Given the description of an element on the screen output the (x, y) to click on. 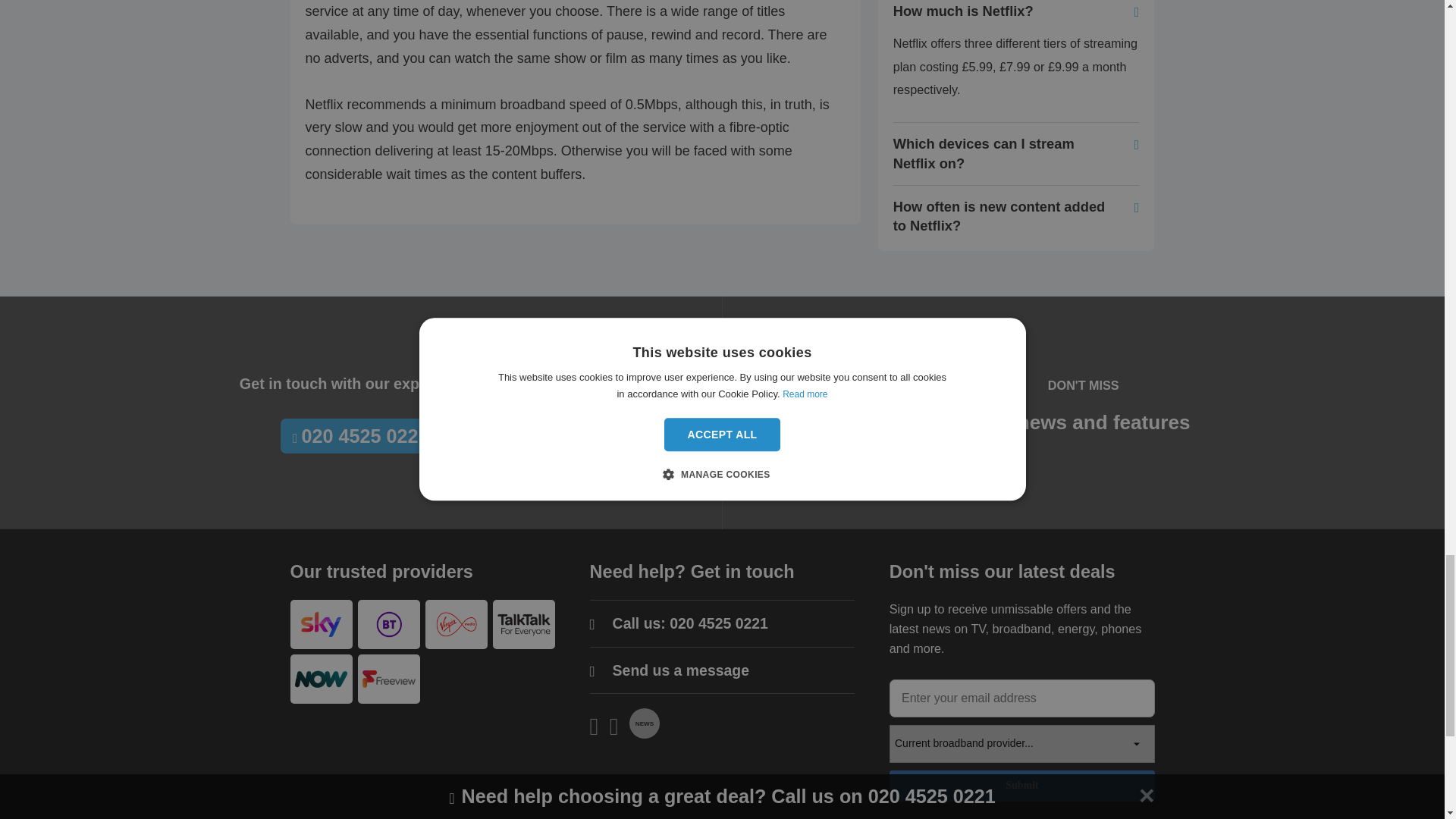
020 4525 0221 (718, 623)
Send us a message (680, 669)
020 4525 0221 (361, 436)
Our news and features (1082, 422)
